Given the description of an element on the screen output the (x, y) to click on. 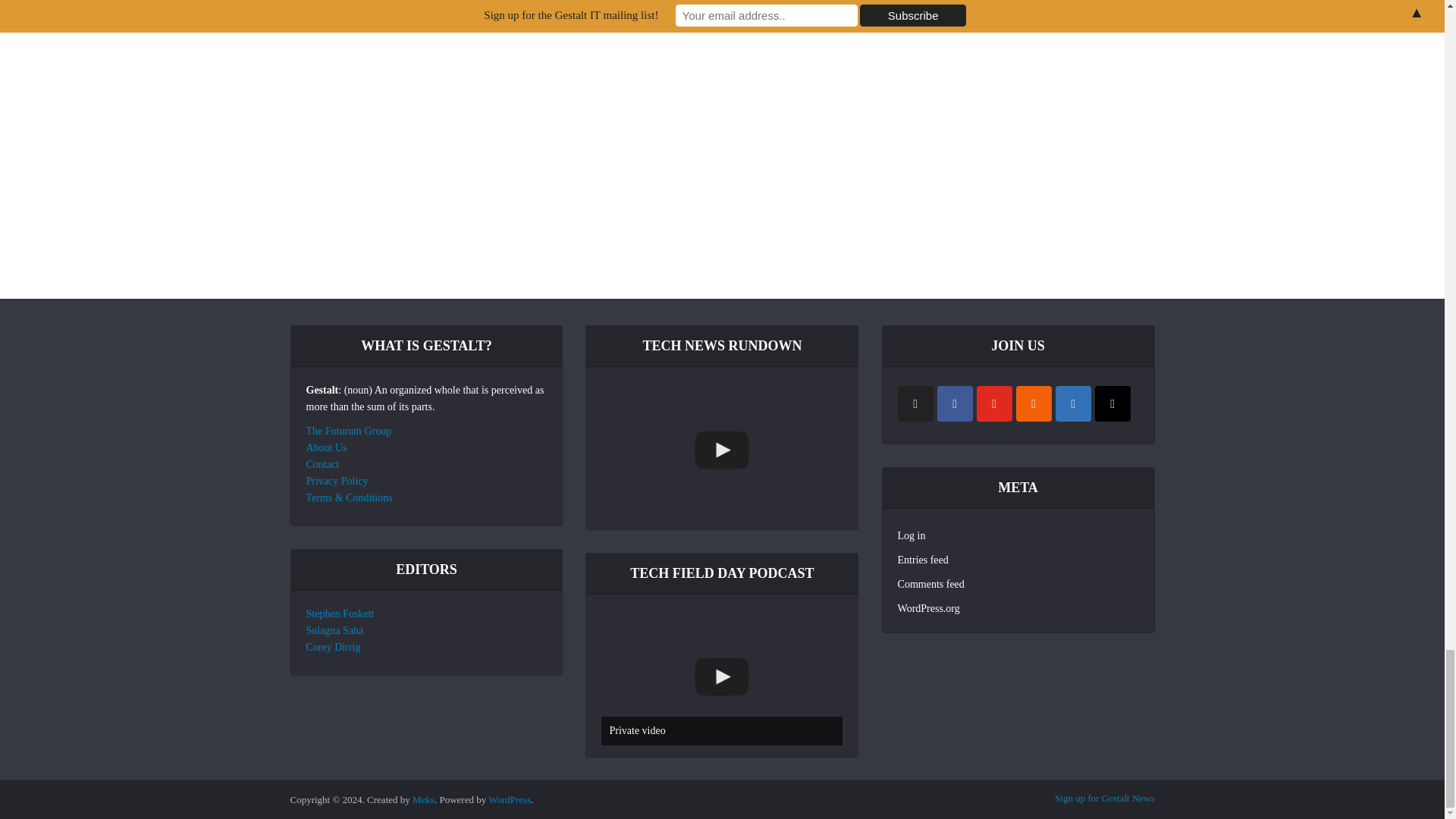
YouTube (993, 403)
Facebook (954, 403)
Linkedin (1072, 403)
RSS (1033, 403)
Private video (722, 677)
Mail (1112, 403)
